Given the description of an element on the screen output the (x, y) to click on. 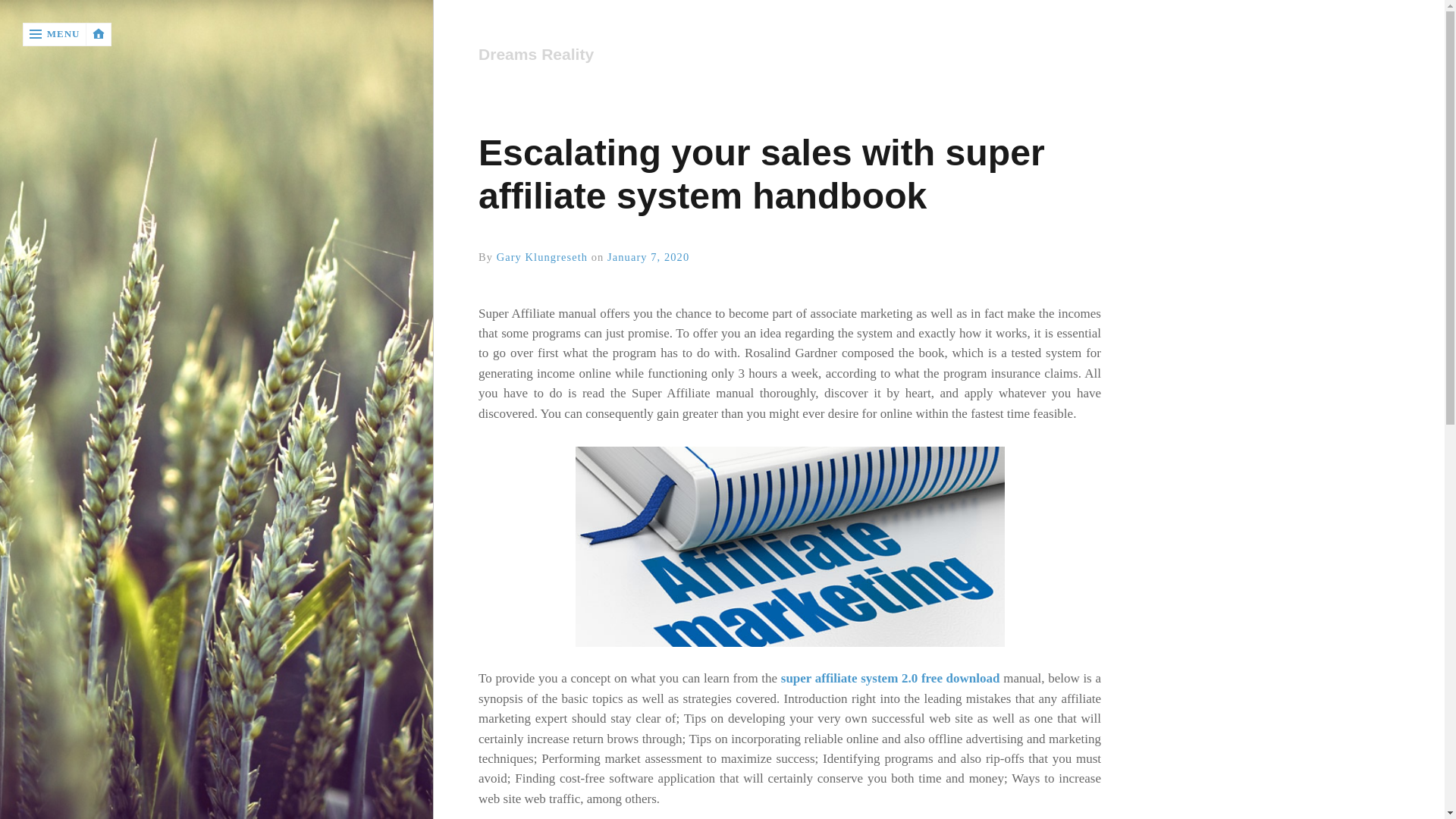
January 7, 2020 (647, 256)
12:36 pm (647, 256)
Dreams Reality (782, 54)
super affiliate system 2.0 free download (890, 677)
Gary Klungreseth (542, 256)
MENU (55, 33)
View all posts by Gary Klungreseth (542, 256)
Home (789, 54)
